Given the description of an element on the screen output the (x, y) to click on. 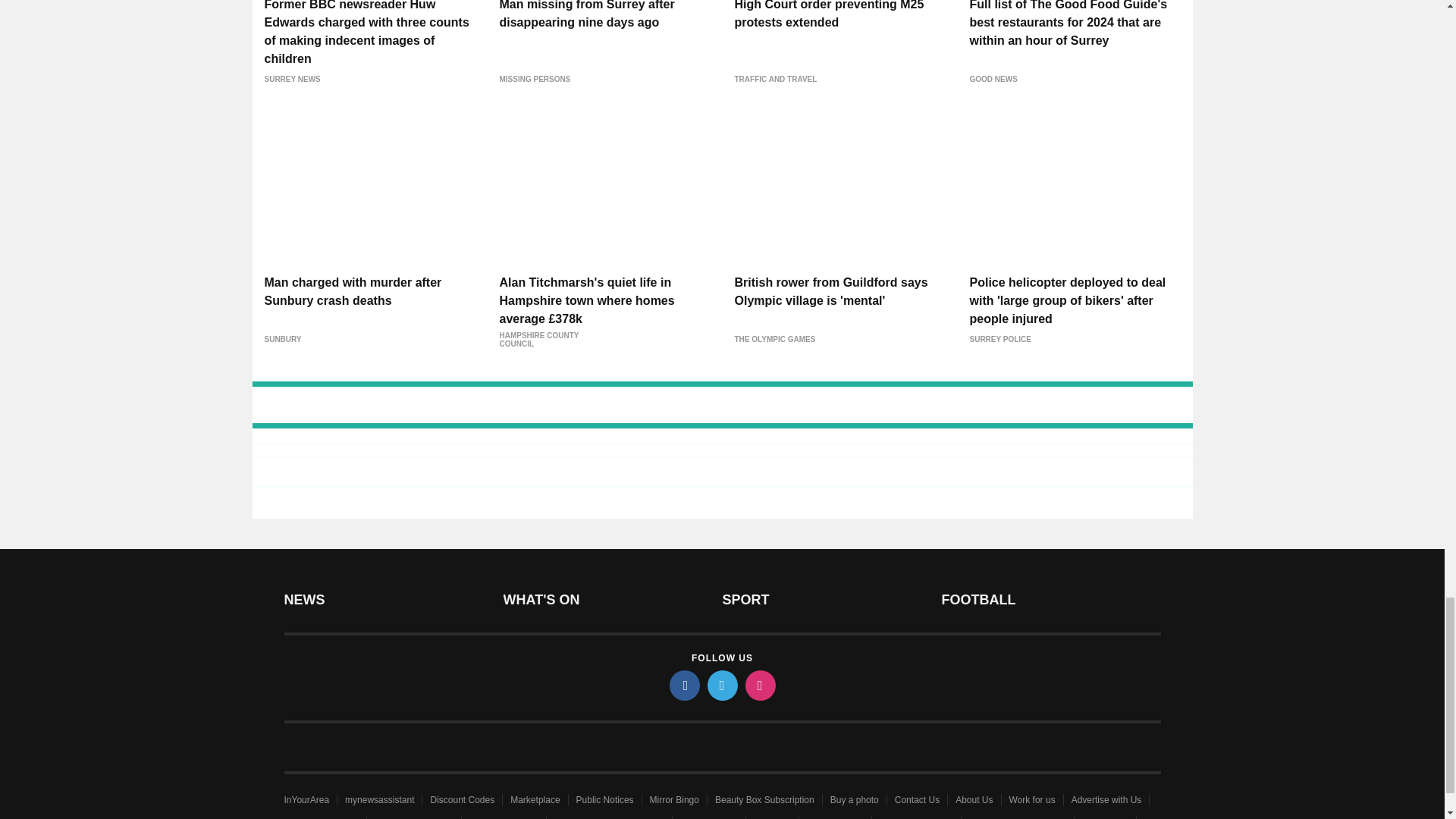
twitter (721, 685)
facebook (683, 685)
instagram (759, 685)
